Given the description of an element on the screen output the (x, y) to click on. 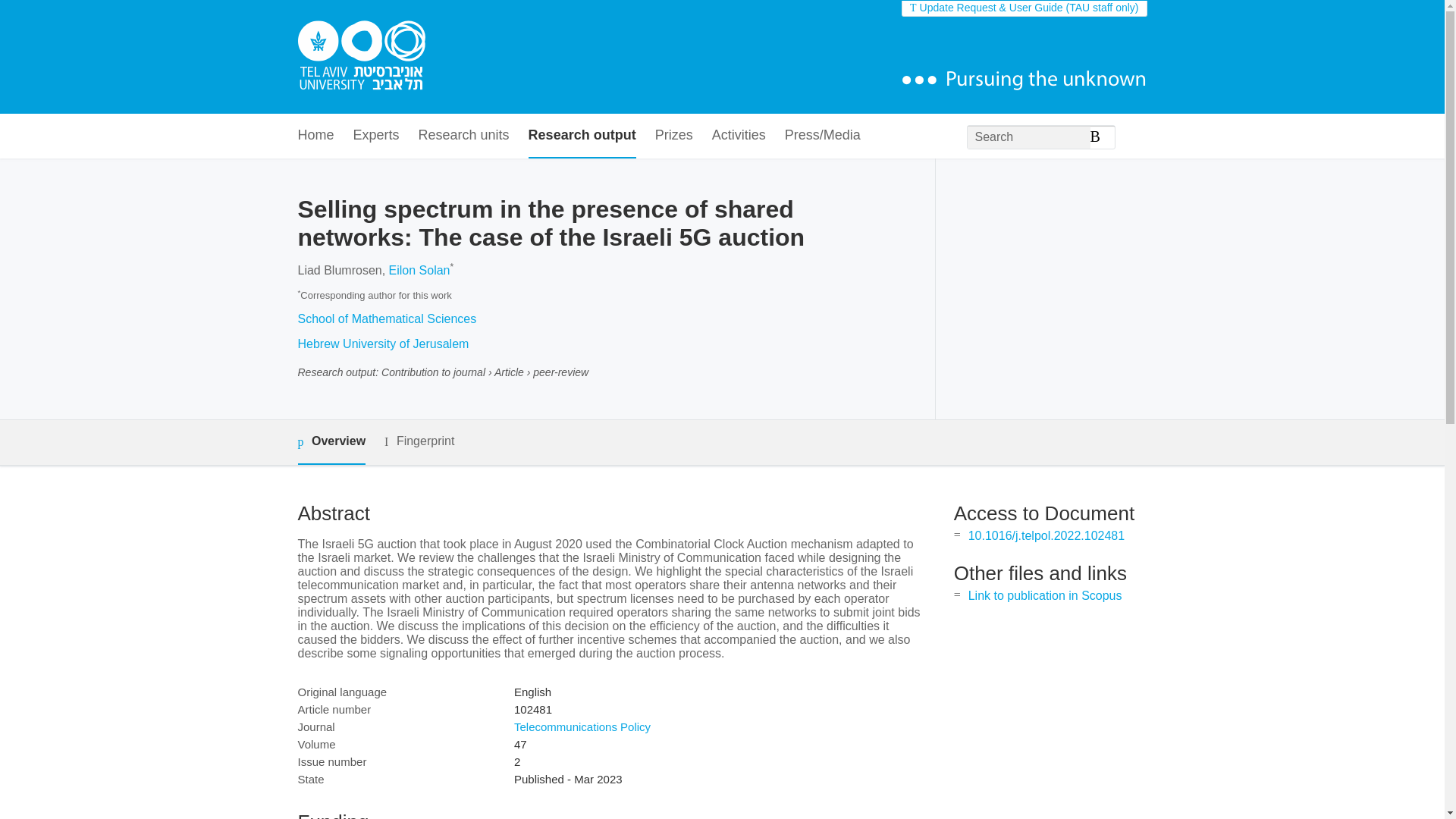
Experts (375, 135)
Research units (464, 135)
Overview (331, 442)
Fingerprint (419, 441)
Hebrew University of Jerusalem (382, 343)
Eilon Solan (418, 269)
Link to publication in Scopus (1045, 594)
School of Mathematical Sciences (386, 318)
Research output (582, 135)
